Given the description of an element on the screen output the (x, y) to click on. 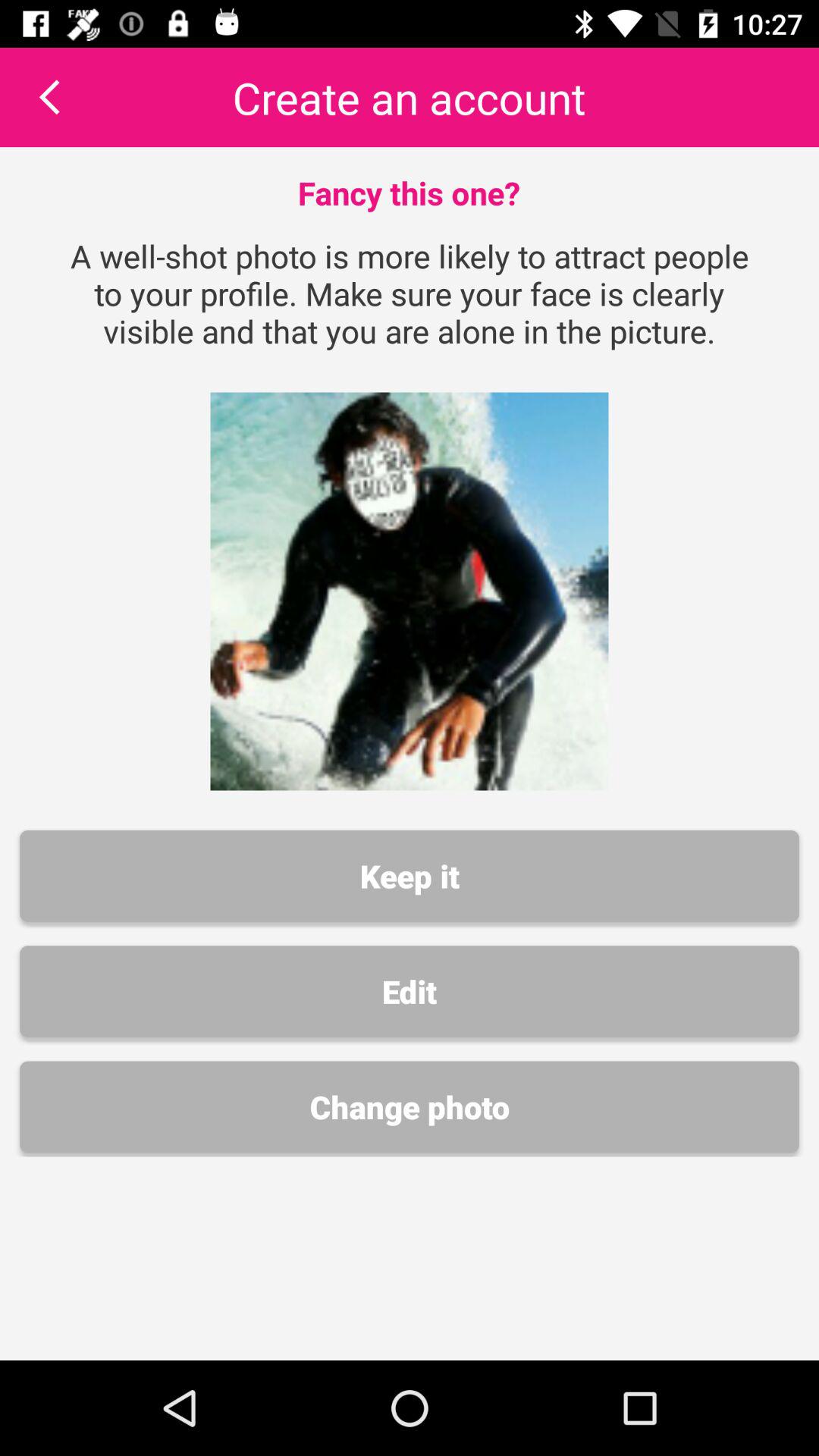
turn on the change photo icon (409, 1106)
